Given the description of an element on the screen output the (x, y) to click on. 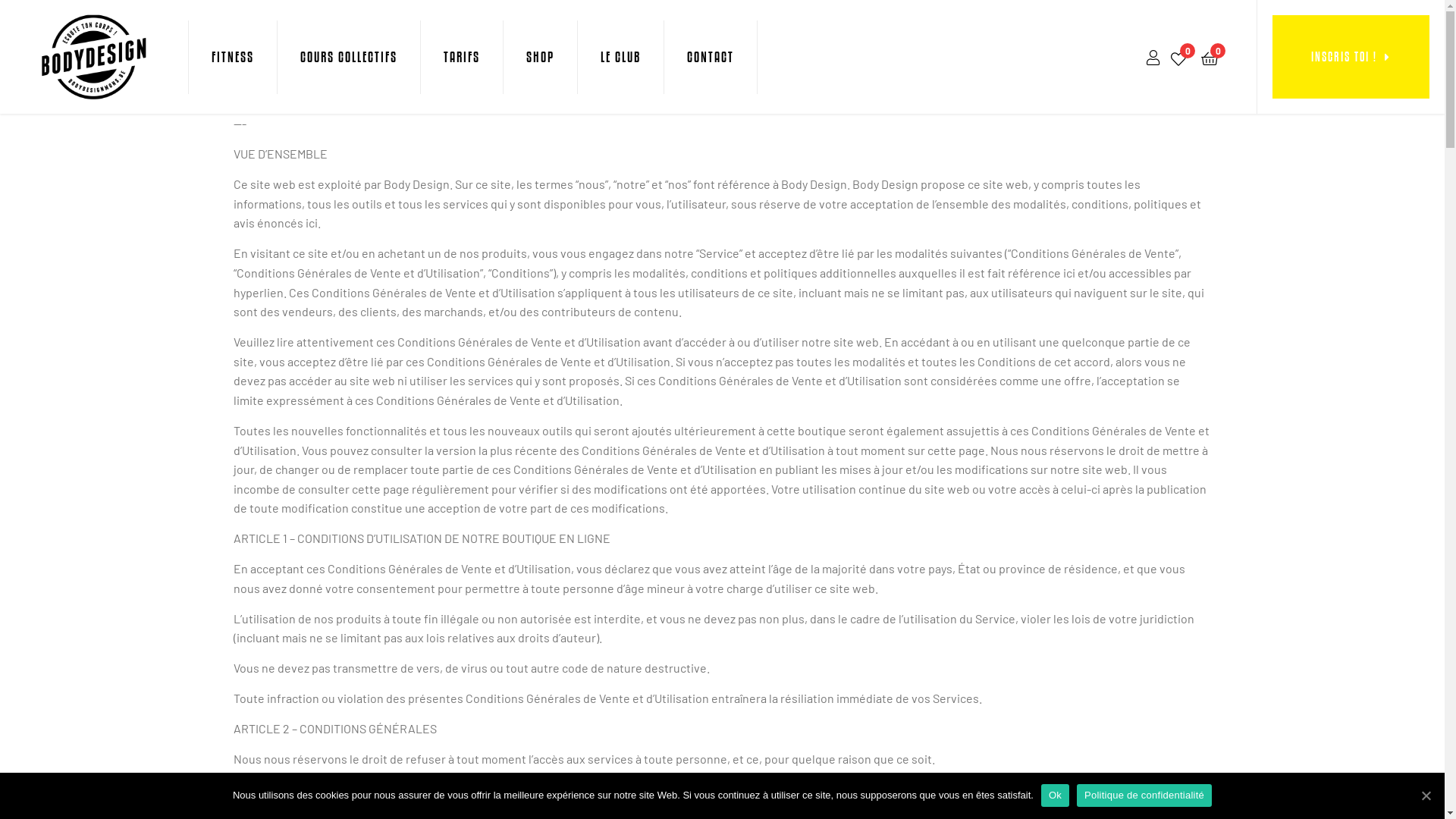
0 Element type: text (1209, 56)
SHOP Element type: text (540, 57)
TARIFS Element type: text (461, 57)
FITNESS Element type: text (232, 57)
LE CLUB Element type: text (620, 57)
INSCRIS TOI ! Element type: text (1350, 56)
CONTACT Element type: text (710, 57)
COURS COLLECTIFS Element type: text (348, 57)
Ok Element type: text (1055, 795)
0 Element type: text (1178, 56)
